Given the description of an element on the screen output the (x, y) to click on. 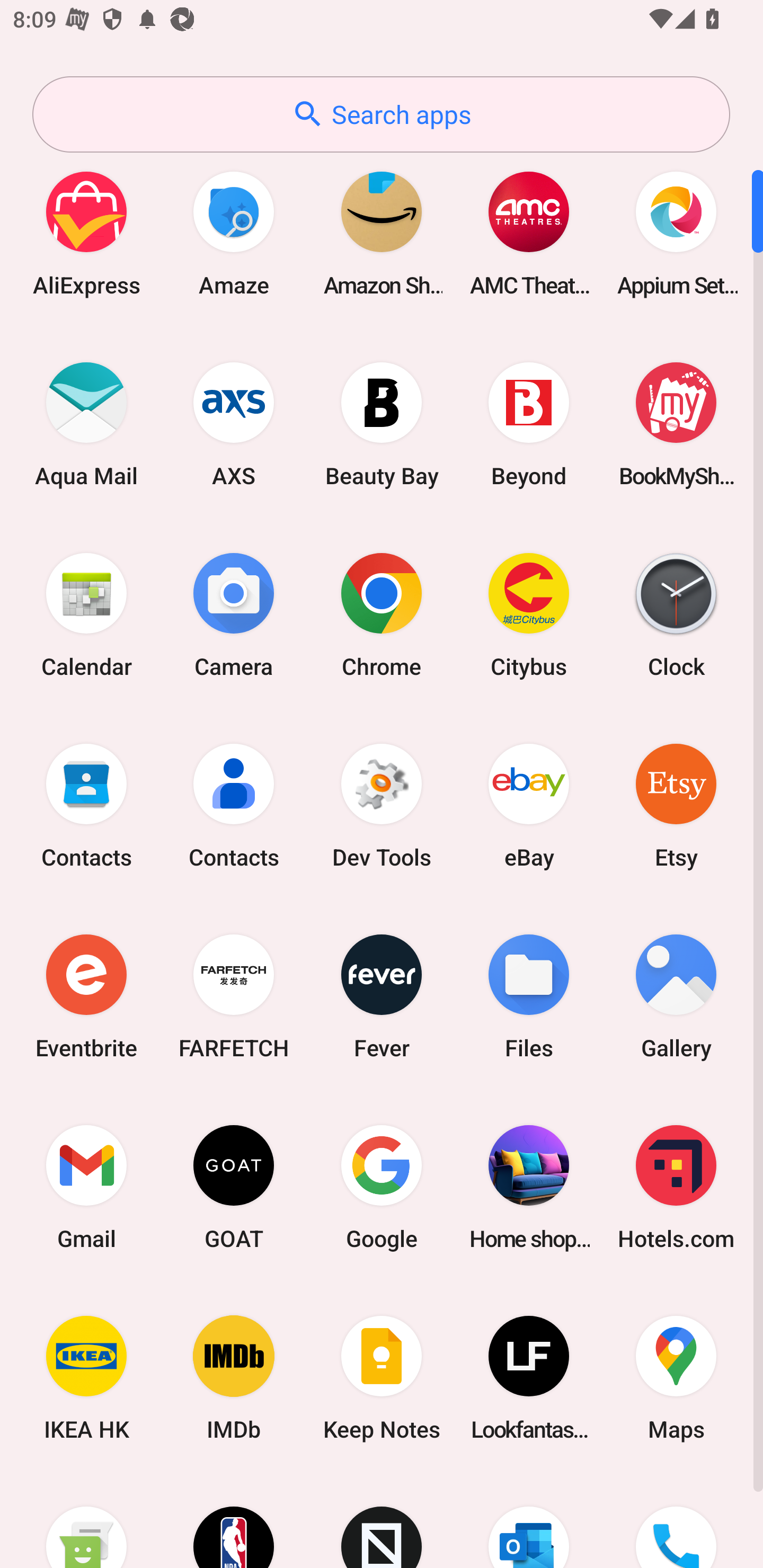
  Search apps (381, 114)
AliExpress (86, 233)
Amaze (233, 233)
Amazon Shopping (381, 233)
AMC Theatres (528, 233)
Appium Settings (676, 233)
Aqua Mail (86, 424)
AXS (233, 424)
Beauty Bay (381, 424)
Beyond (528, 424)
BookMyShow (676, 424)
Calendar (86, 614)
Camera (233, 614)
Chrome (381, 614)
Citybus (528, 614)
Clock (676, 614)
Contacts (86, 805)
Contacts (233, 805)
Dev Tools (381, 805)
eBay (528, 805)
Etsy (676, 805)
Eventbrite (86, 996)
FARFETCH (233, 996)
Fever (381, 996)
Files (528, 996)
Gallery (676, 996)
Gmail (86, 1186)
GOAT (233, 1186)
Google (381, 1186)
Home shopping (528, 1186)
Hotels.com (676, 1186)
IKEA HK (86, 1377)
IMDb (233, 1377)
Keep Notes (381, 1377)
Lookfantastic (528, 1377)
Maps (676, 1377)
